Given the description of an element on the screen output the (x, y) to click on. 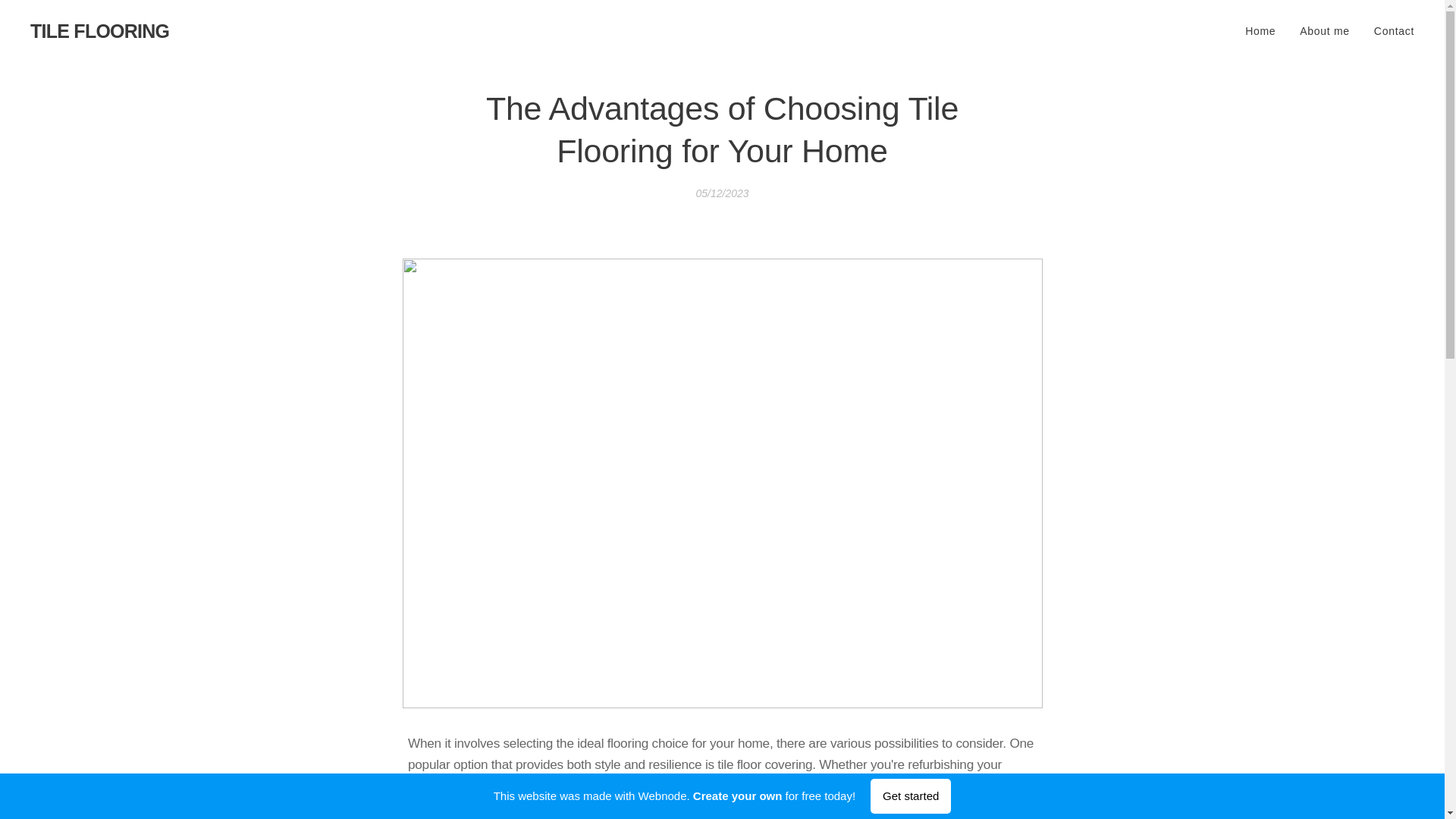
About me (1324, 30)
Contact (1387, 30)
Home (1264, 30)
TILE FLOORING (99, 31)
